Given the description of an element on the screen output the (x, y) to click on. 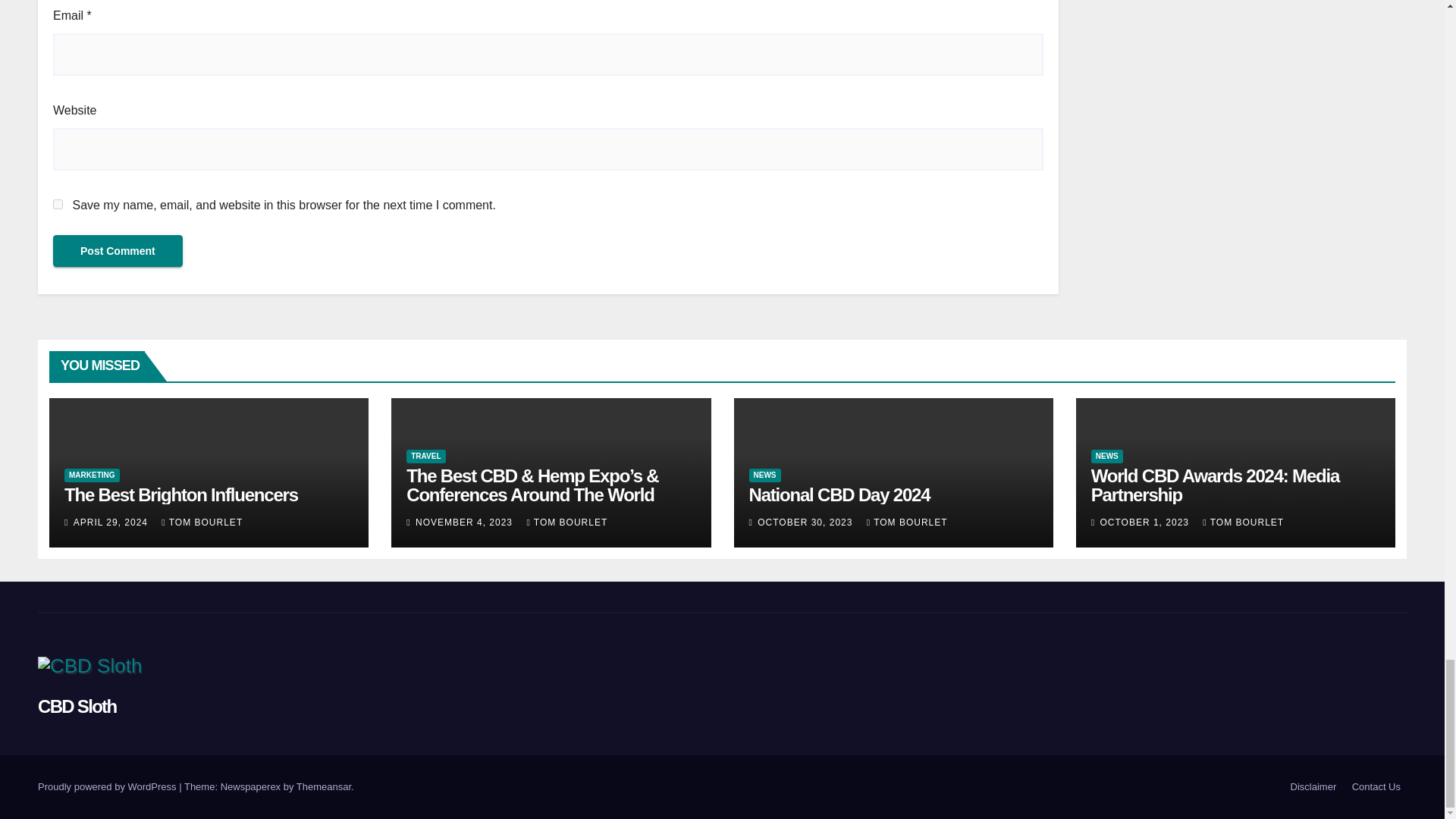
Permalink to: The Best Brighton Influencers (181, 494)
yes (57, 204)
Contact Us (1375, 786)
Disclaimer (1313, 786)
Post Comment (117, 250)
Permalink to: World CBD Awards 2024: Media Partnership (1214, 485)
Permalink to: National CBD Day 2024 (839, 494)
